Given the description of an element on the screen output the (x, y) to click on. 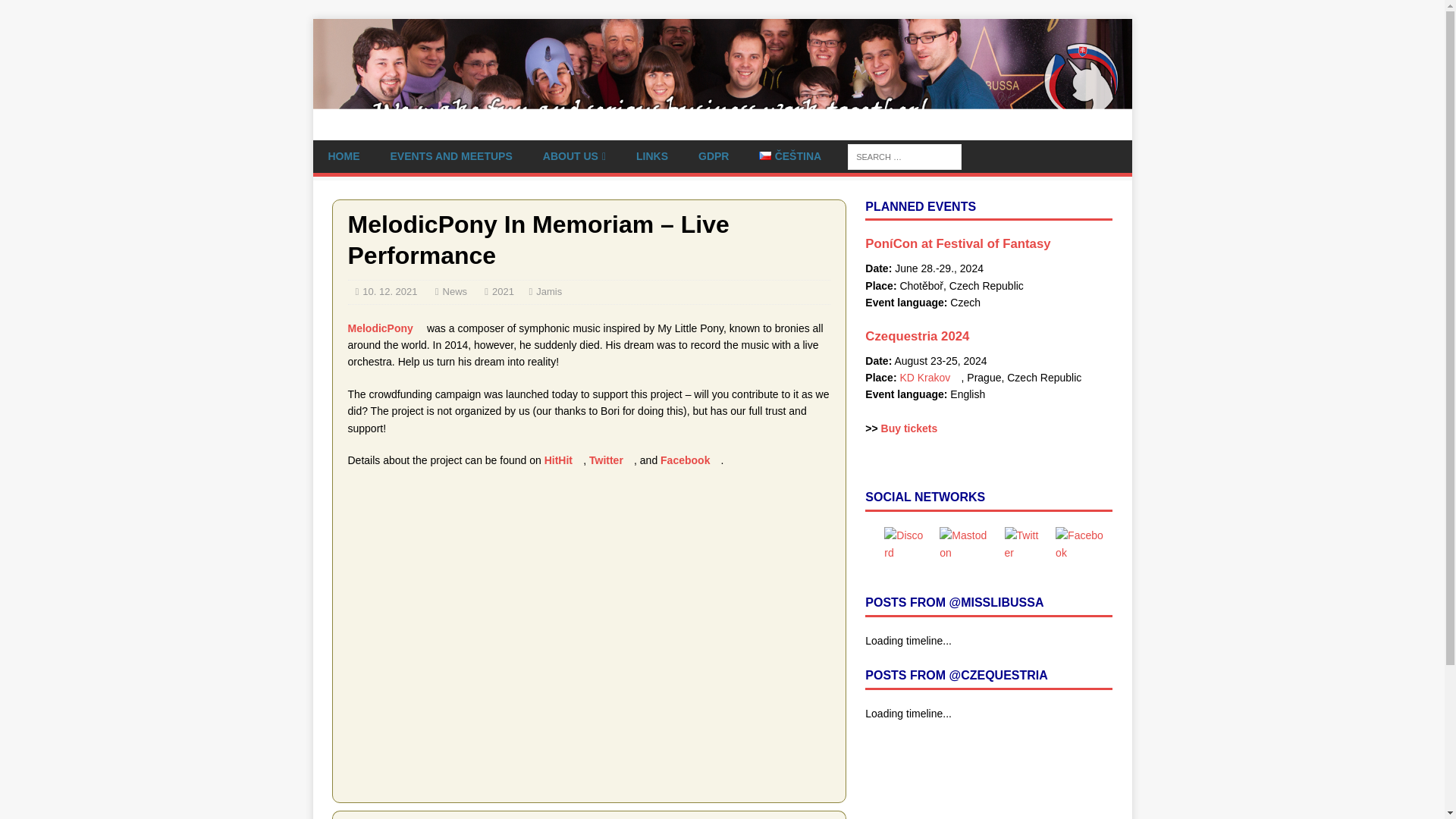
HitHit (563, 460)
Czequestria 2024 (921, 336)
MelodicPony (385, 328)
Buy tickets (914, 428)
GDPR (713, 155)
HOME (343, 155)
News (454, 291)
Twitter (611, 460)
EVENTS AND MEETUPS (450, 155)
KD Krakov (929, 377)
